Given the description of an element on the screen output the (x, y) to click on. 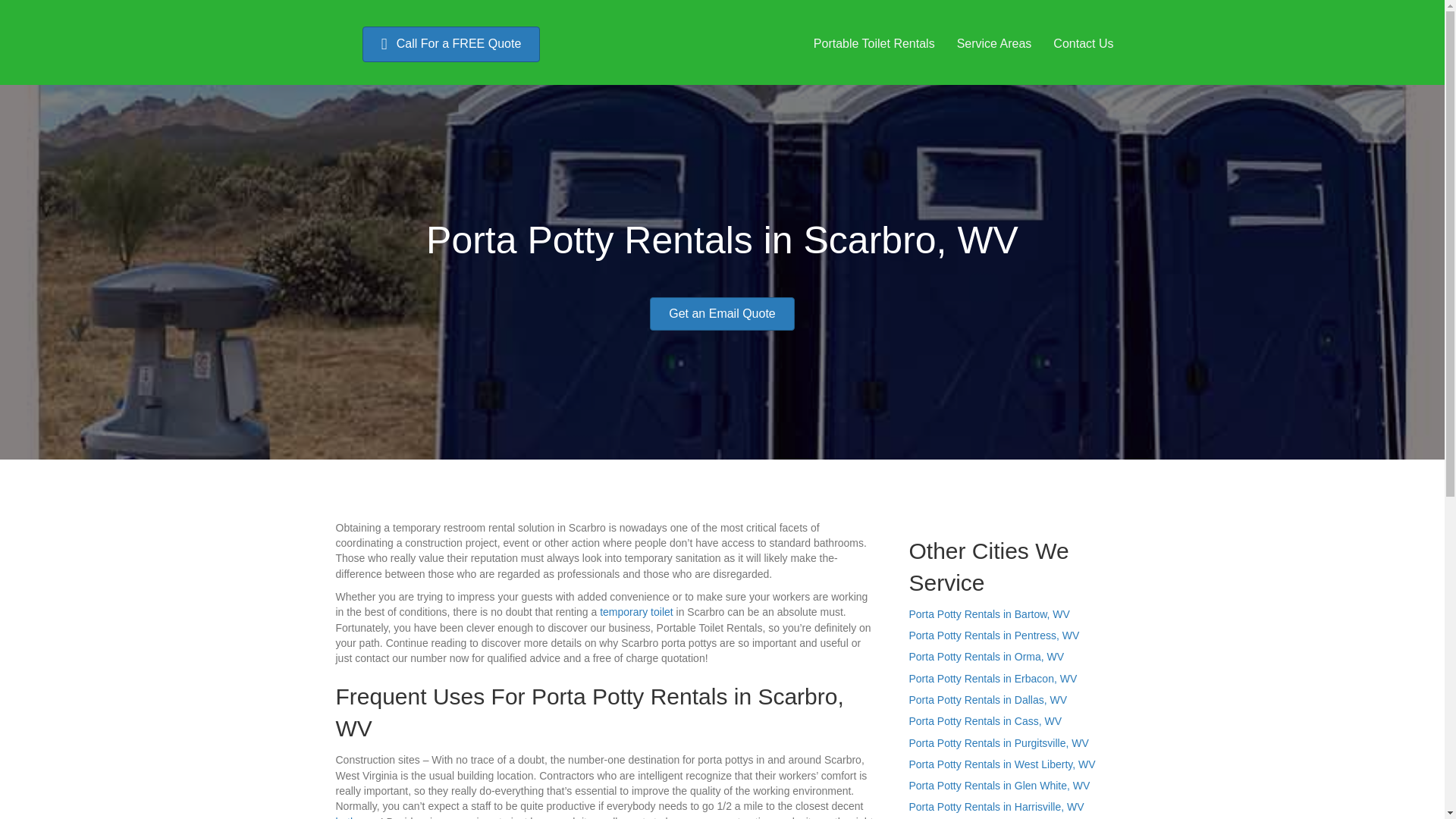
Get an Email Quote (721, 313)
Portable Toilet Rentals (873, 43)
Porta Potty Rentals in Purgitsville, WV (997, 743)
Porta Potty Rentals in Glen White, WV (998, 785)
Porta Potty Rentals in Purgitsville, WV (997, 743)
Porta Potty Rentals in Bartow, WV (988, 613)
Contact Us (1083, 43)
Porta Potty Rentals in Dallas, WV (987, 699)
Porta Potty Rentals in Bartow, WV (988, 613)
Porta Potty Rentals in Glen White, WV (998, 785)
